Given the description of an element on the screen output the (x, y) to click on. 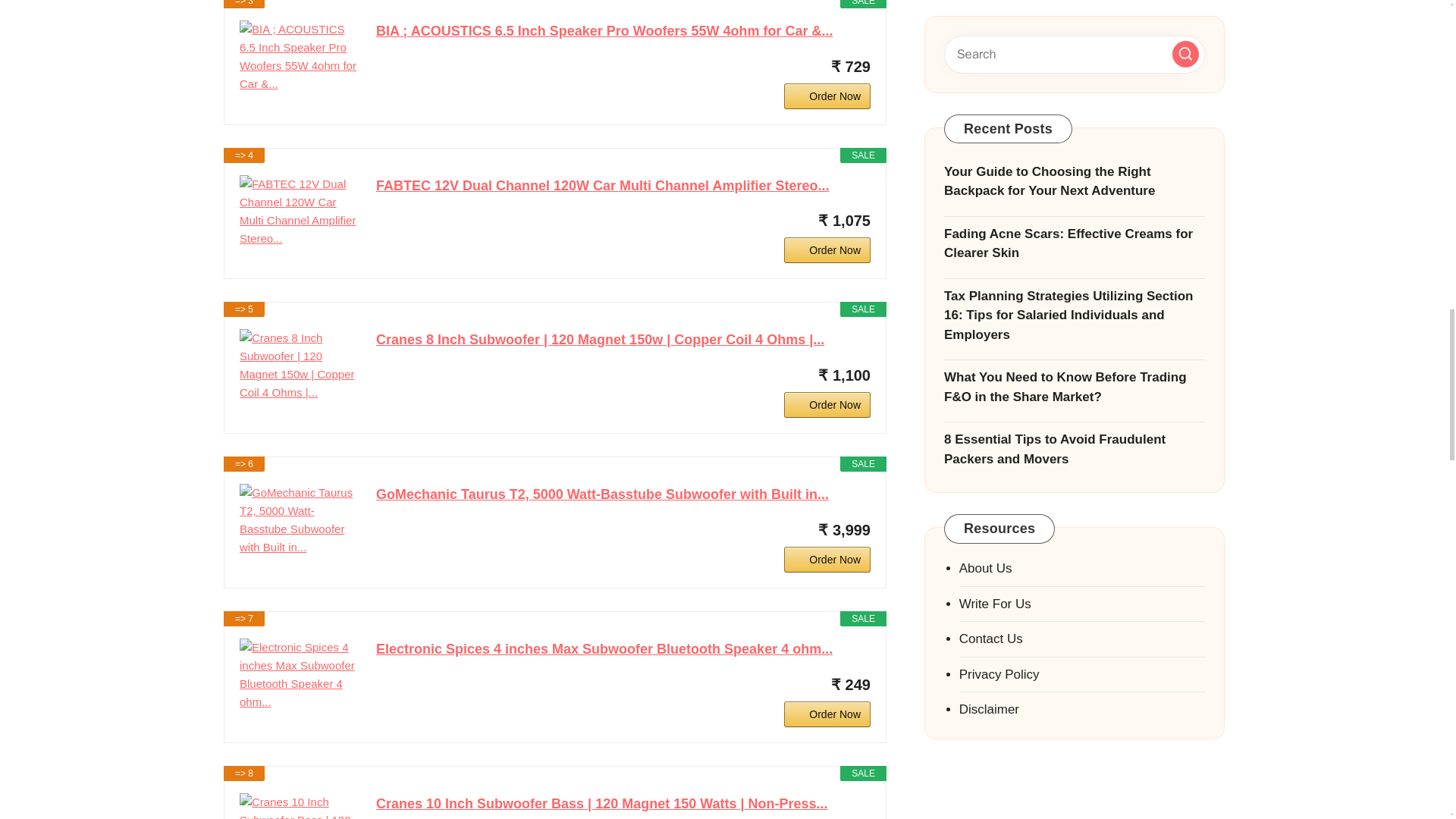
Order Now (827, 95)
Order Now (827, 249)
